Given the description of an element on the screen output the (x, y) to click on. 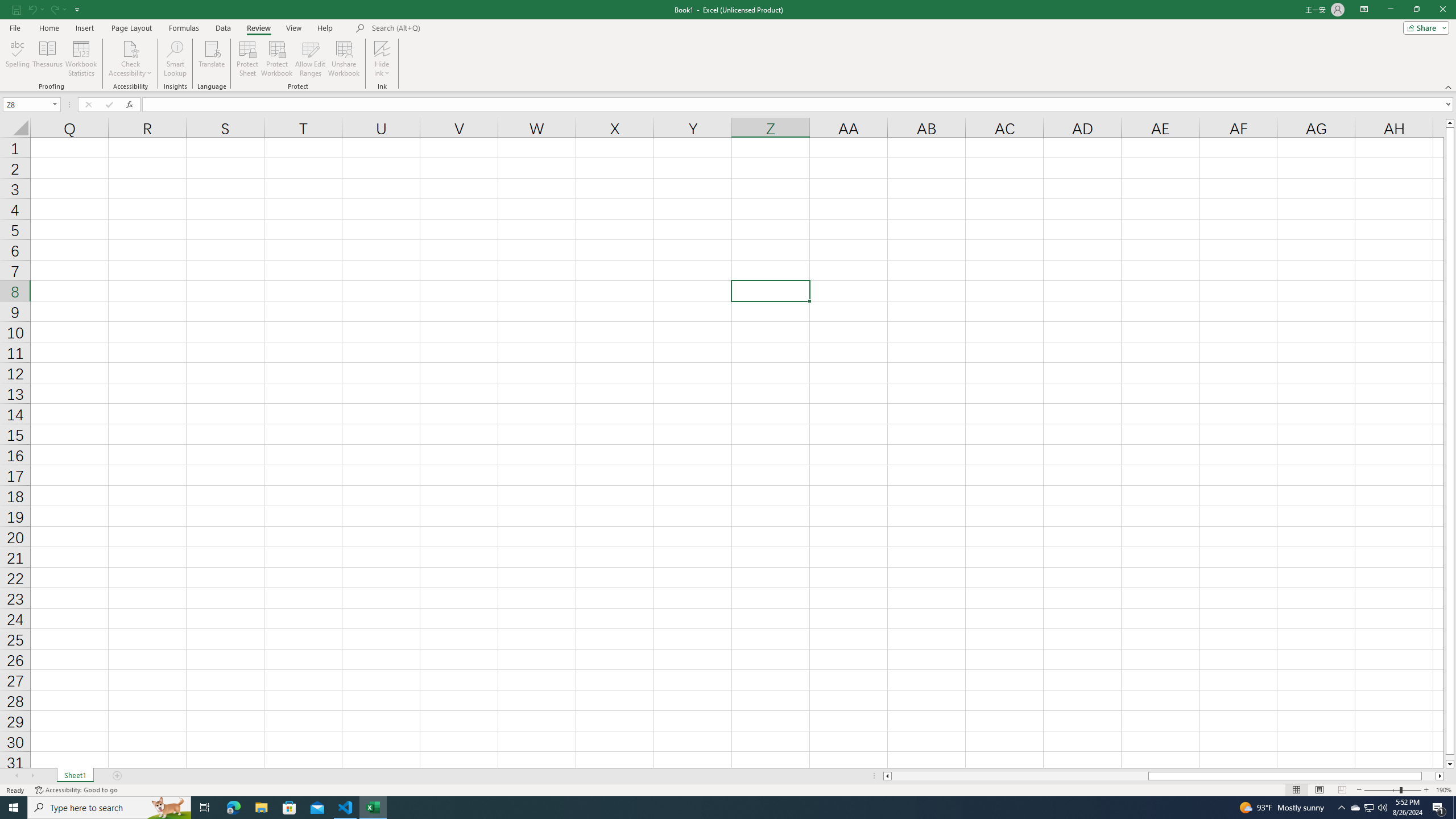
Translate (211, 58)
Workbook Statistics (81, 58)
Smart Lookup (175, 58)
